Given the description of an element on the screen output the (x, y) to click on. 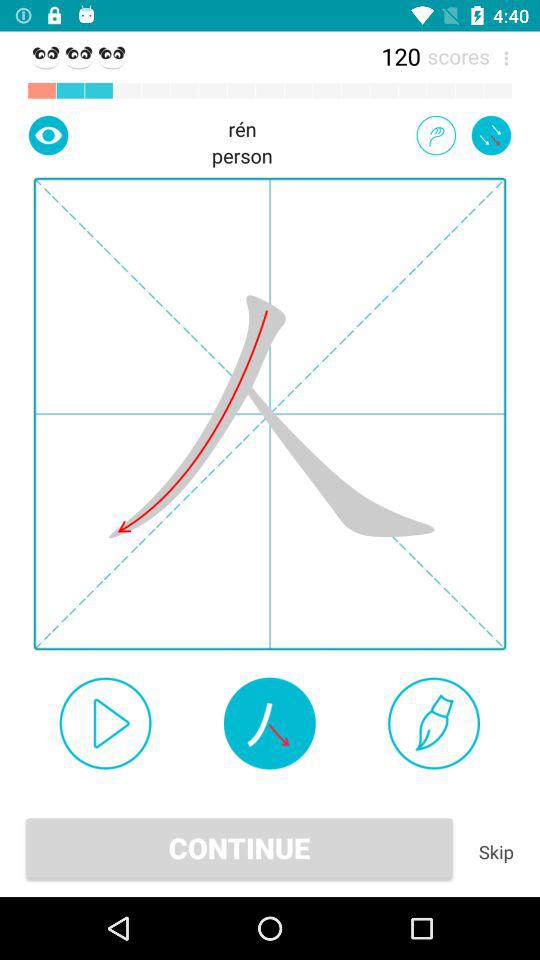
change view (48, 135)
